Given the description of an element on the screen output the (x, y) to click on. 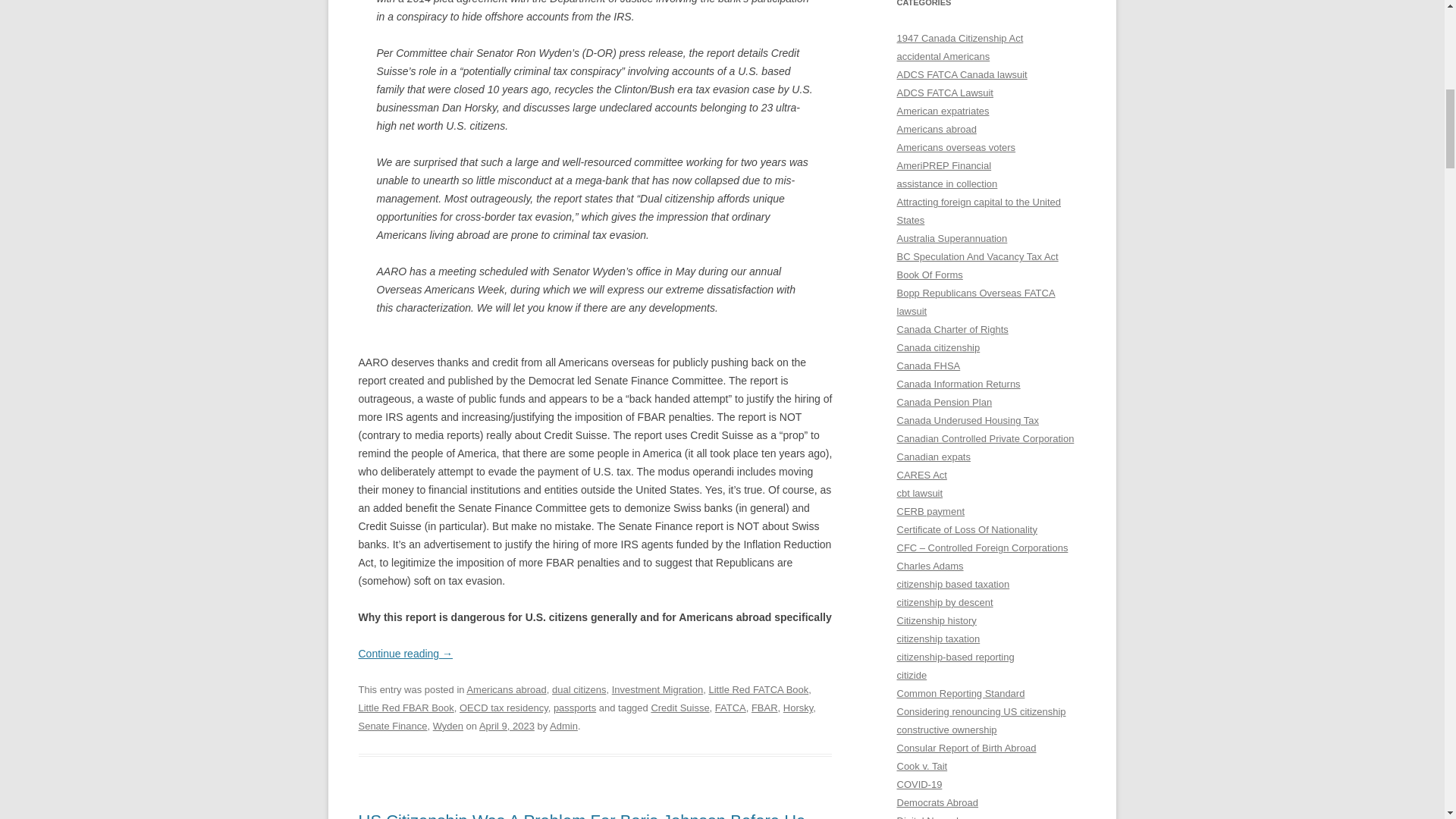
2:34 pm (506, 726)
View all posts by Admin (564, 726)
